Given the description of an element on the screen output the (x, y) to click on. 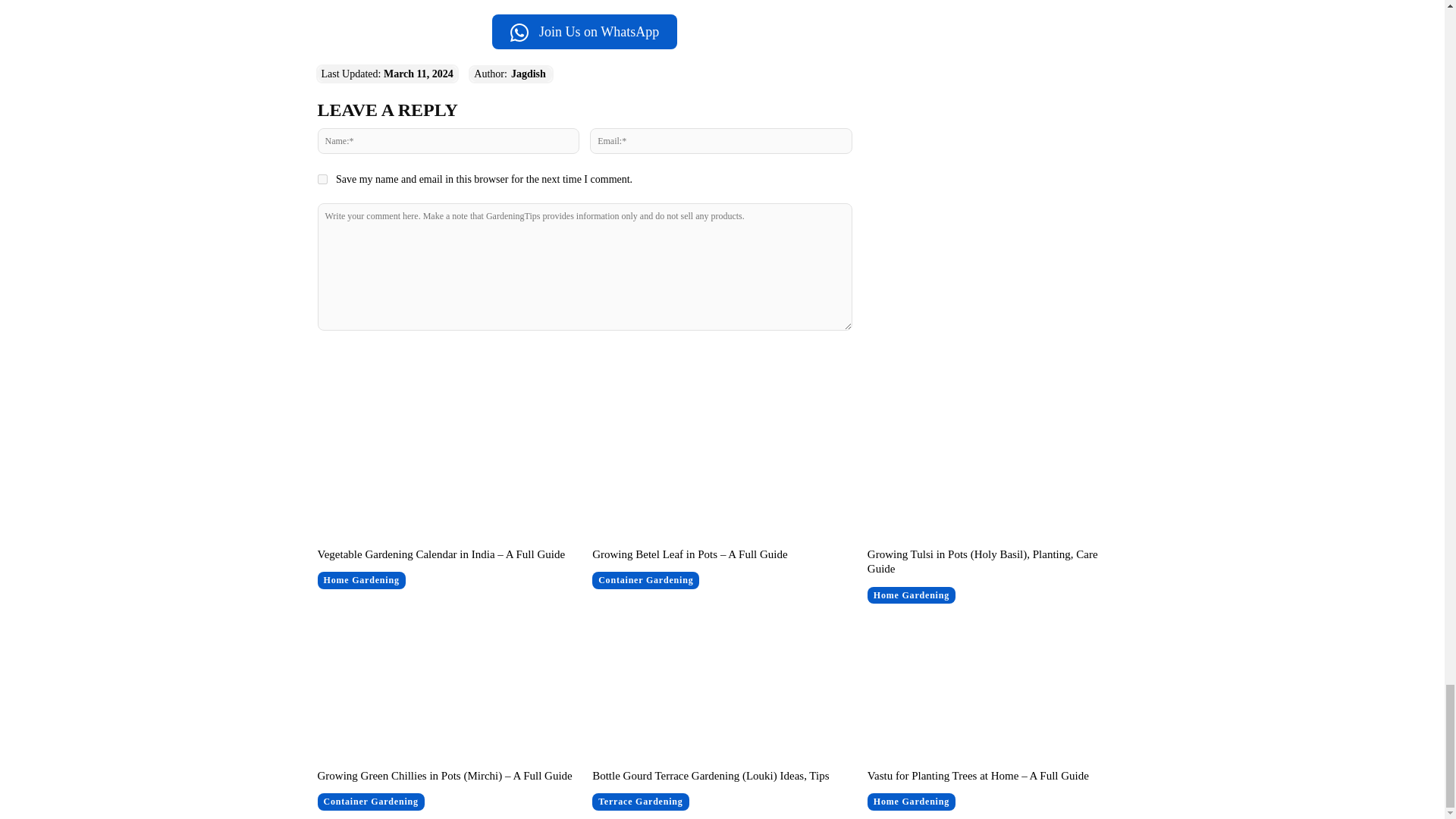
yes (321, 179)
Join Us on WhatsApp (584, 31)
Post Comment (584, 360)
